Given the description of an element on the screen output the (x, y) to click on. 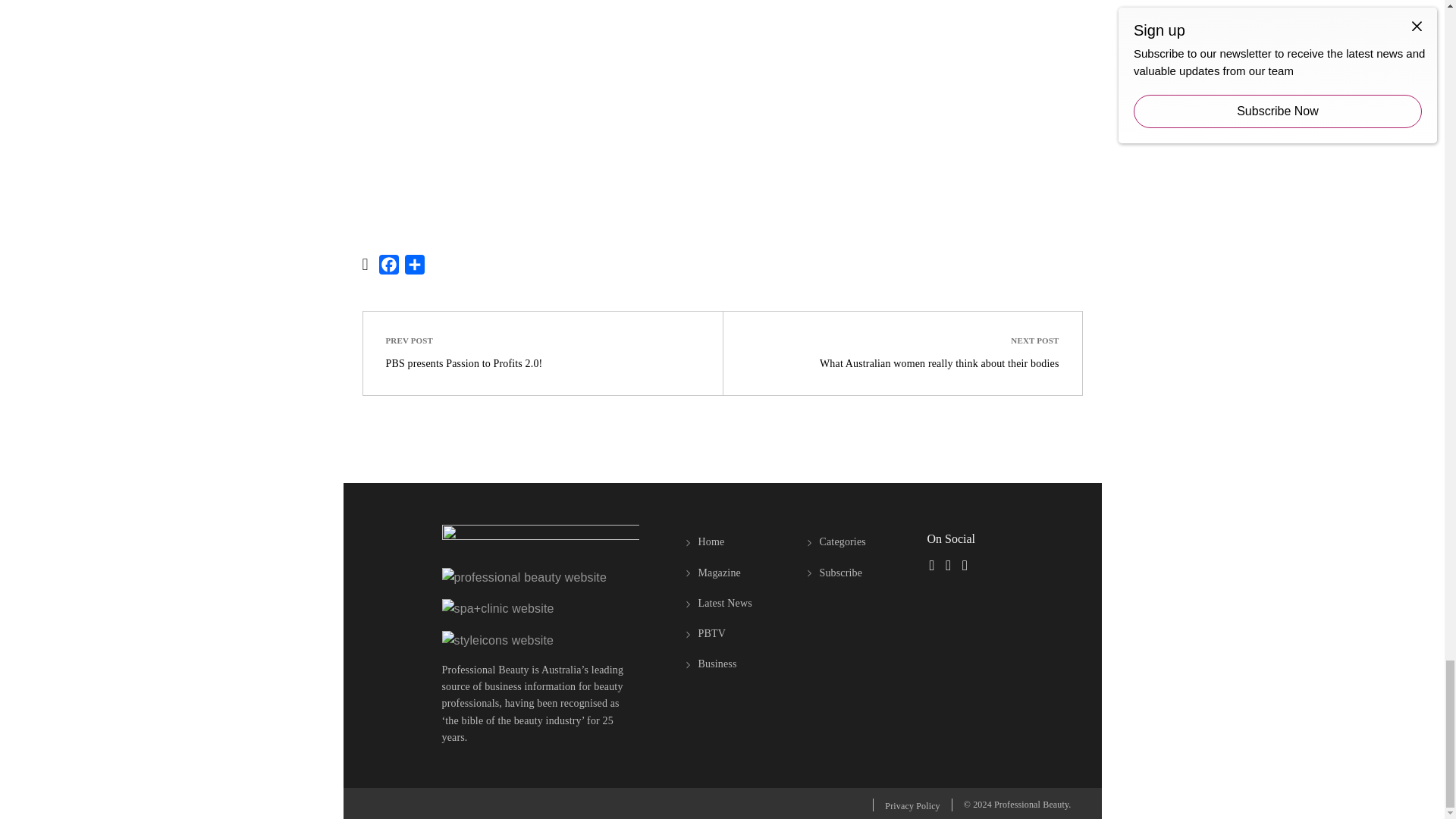
3rd party ad content (721, 106)
Facebook (388, 267)
